Given the description of an element on the screen output the (x, y) to click on. 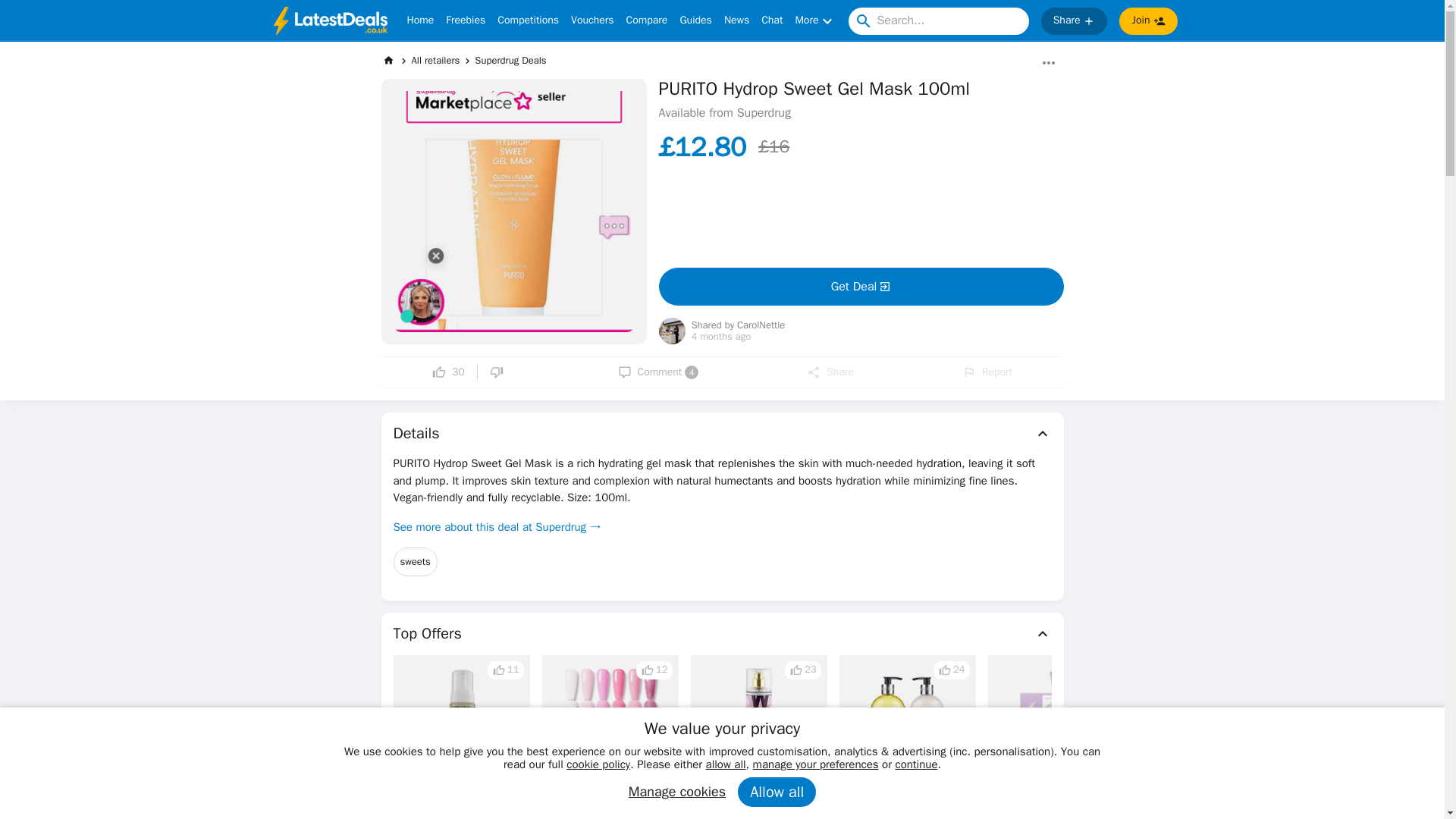
sweets (414, 561)
More (814, 21)
Get Deal (860, 286)
See more offers (1329, 755)
30 (448, 372)
Freebies (464, 21)
Report (986, 371)
Guides (695, 21)
Compare (647, 21)
All retailers (435, 60)
Details (722, 434)
Join (1147, 21)
Home (419, 21)
Competitions (528, 21)
Shared by CarolNettle (738, 325)
